Given the description of an element on the screen output the (x, y) to click on. 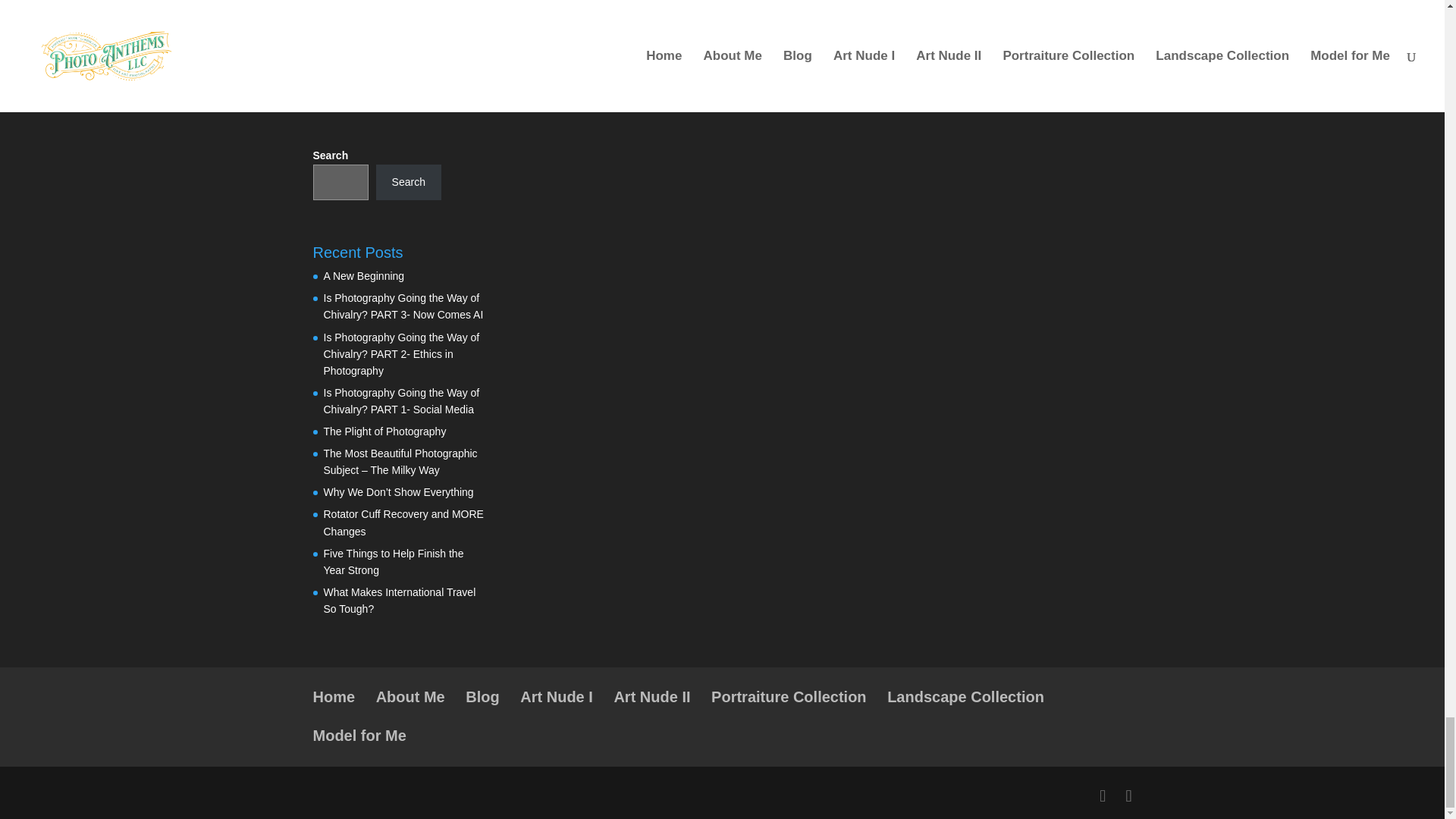
A New Beginning (363, 275)
Search (408, 181)
